Given the description of an element on the screen output the (x, y) to click on. 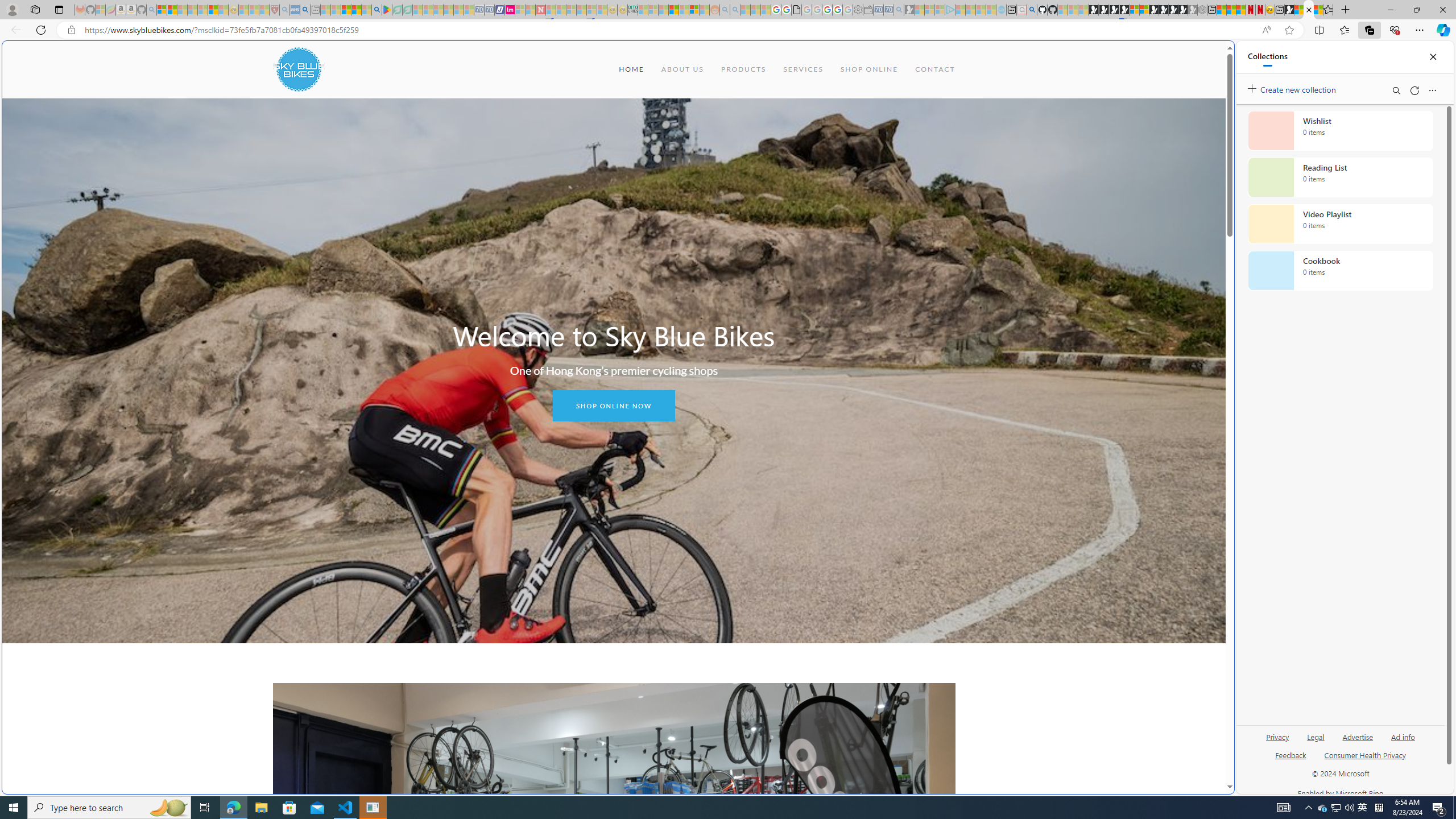
utah sues federal government - Search (922, 389)
